Given the description of an element on the screen output the (x, y) to click on. 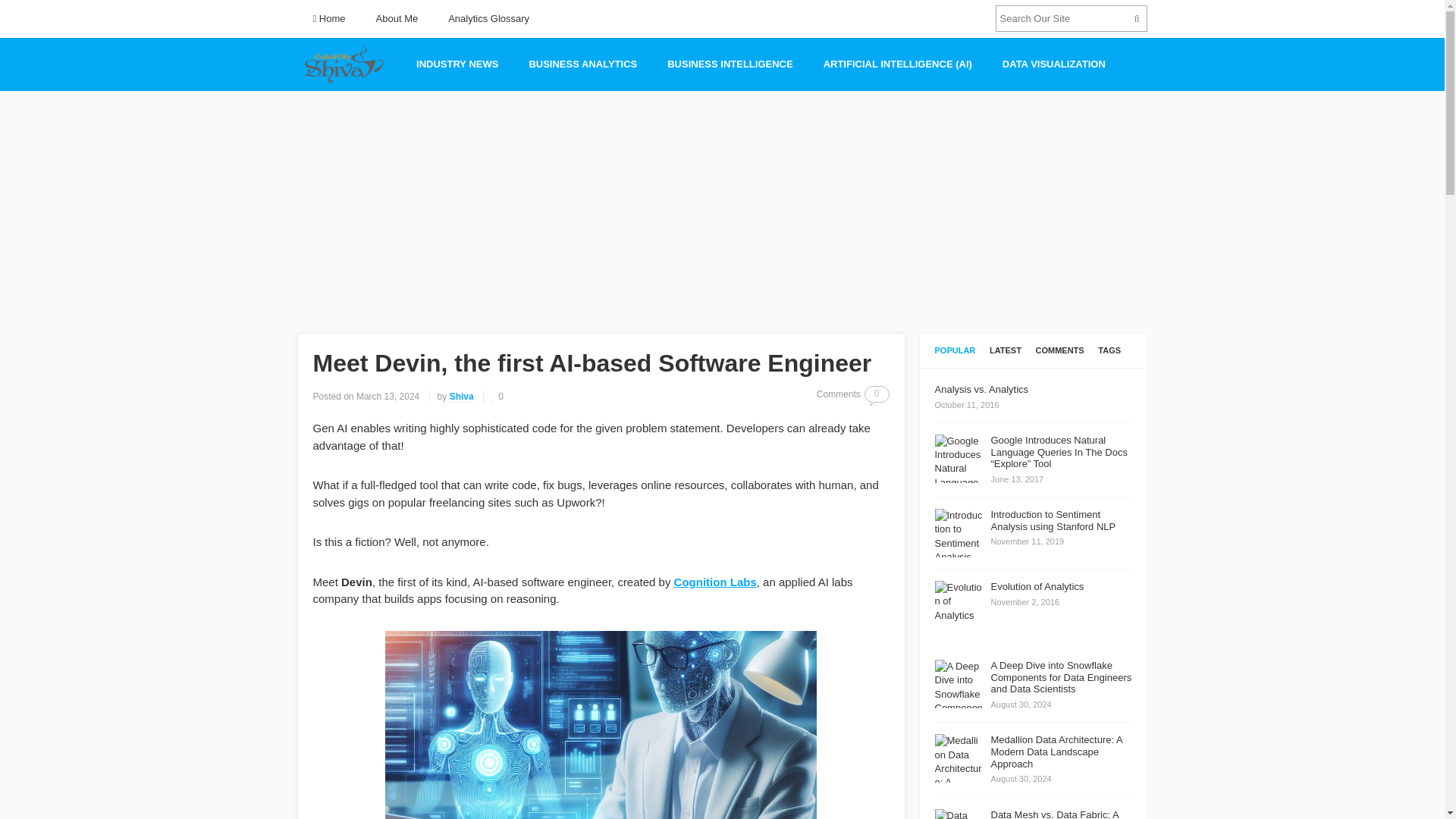
Popular (954, 350)
BUSINESS ANALYTICS (582, 63)
Shiva (461, 396)
0 (497, 396)
INDUSTRY NEWS (457, 63)
Cognition Labs (715, 581)
DATA VISUALIZATION (1054, 63)
Home (328, 18)
Comments (1059, 350)
0 (876, 393)
